Given the description of an element on the screen output the (x, y) to click on. 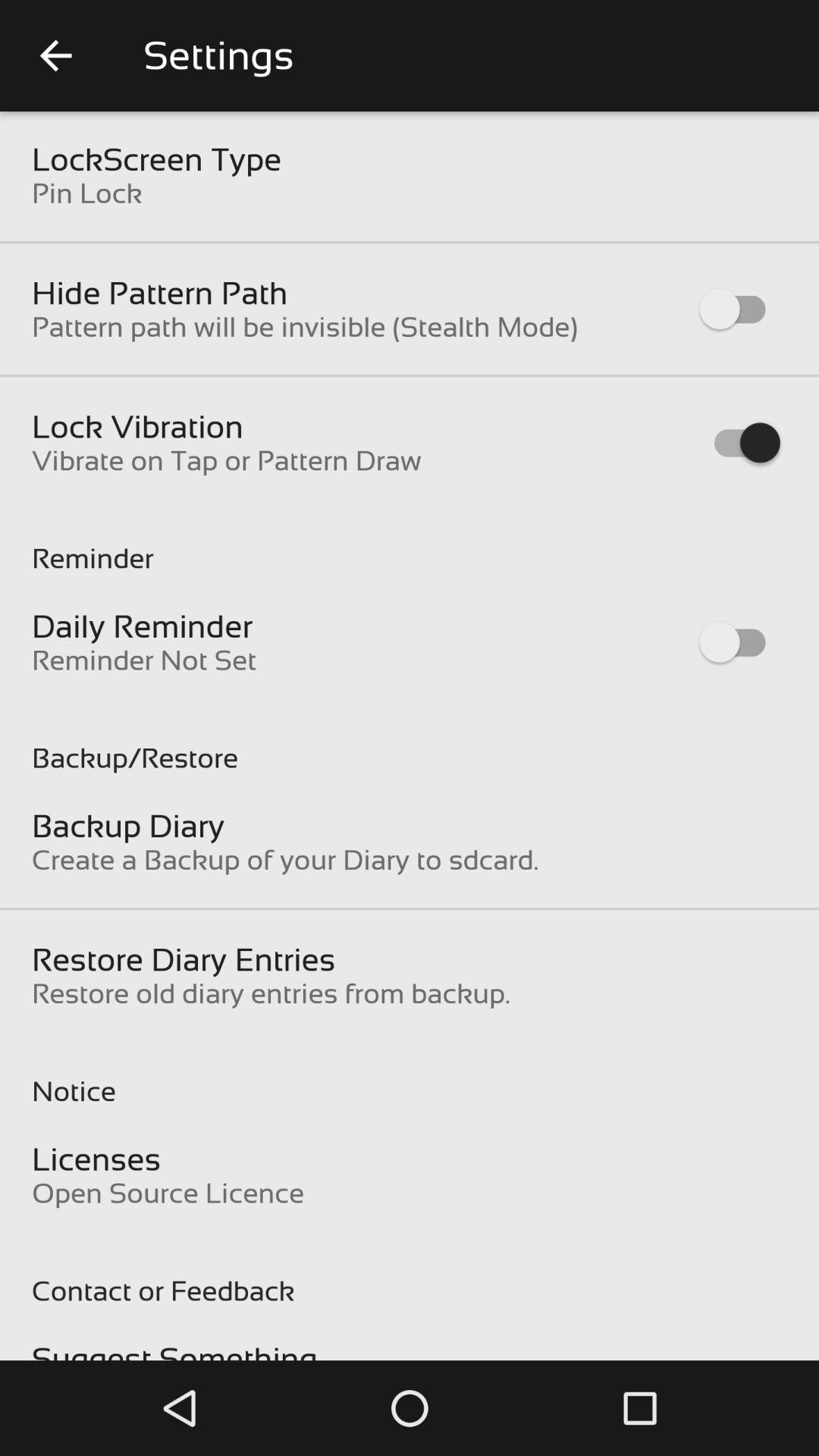
turn on notice (409, 1075)
